Given the description of an element on the screen output the (x, y) to click on. 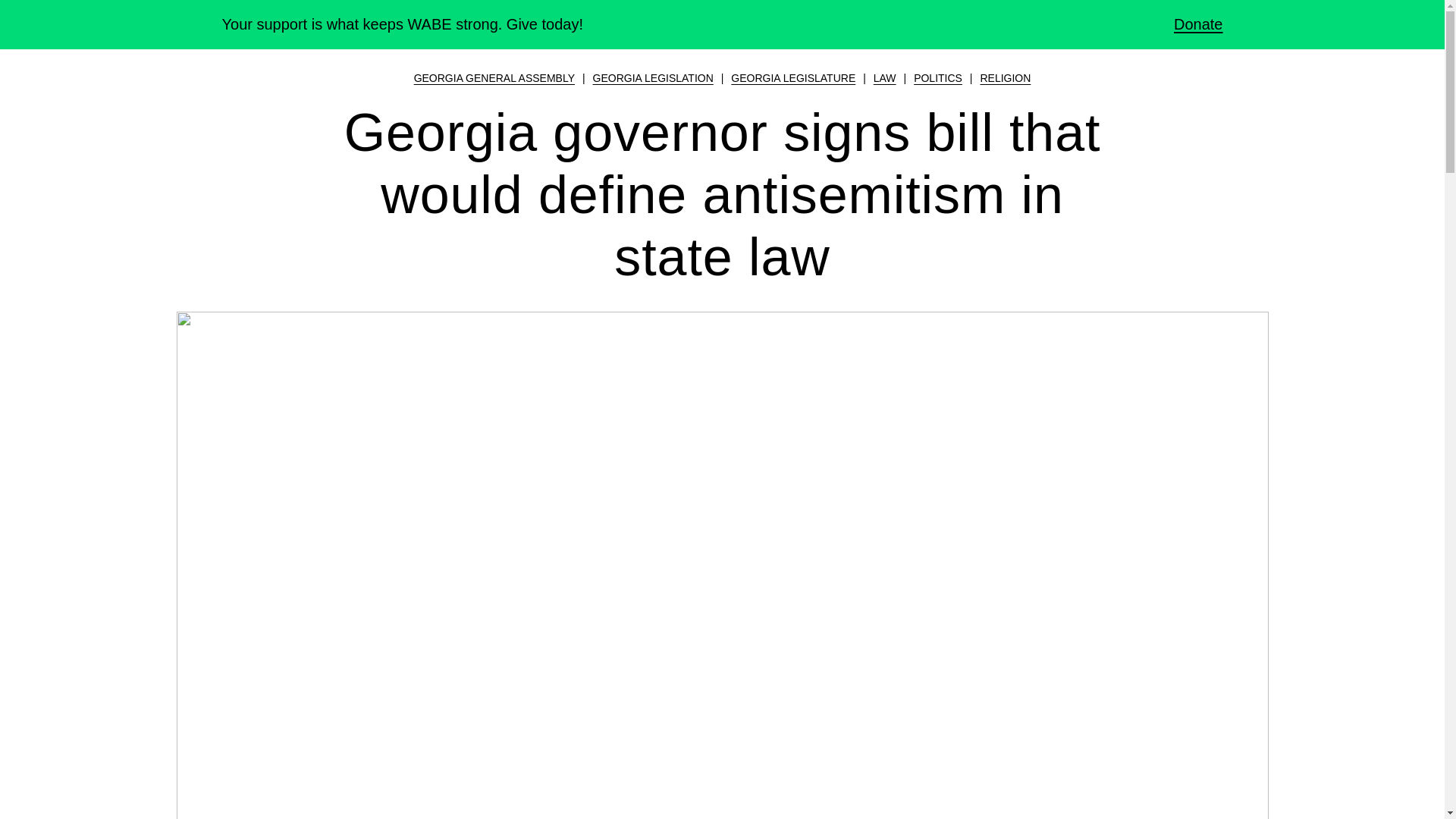
RELIGION (1004, 78)
GEORGIA LEGISLATURE (793, 78)
GEORGIA LEGISLATION (652, 78)
Donate (1186, 24)
POLITICS (938, 78)
LAW (884, 78)
GEORGIA GENERAL ASSEMBLY (494, 78)
